Given the description of an element on the screen output the (x, y) to click on. 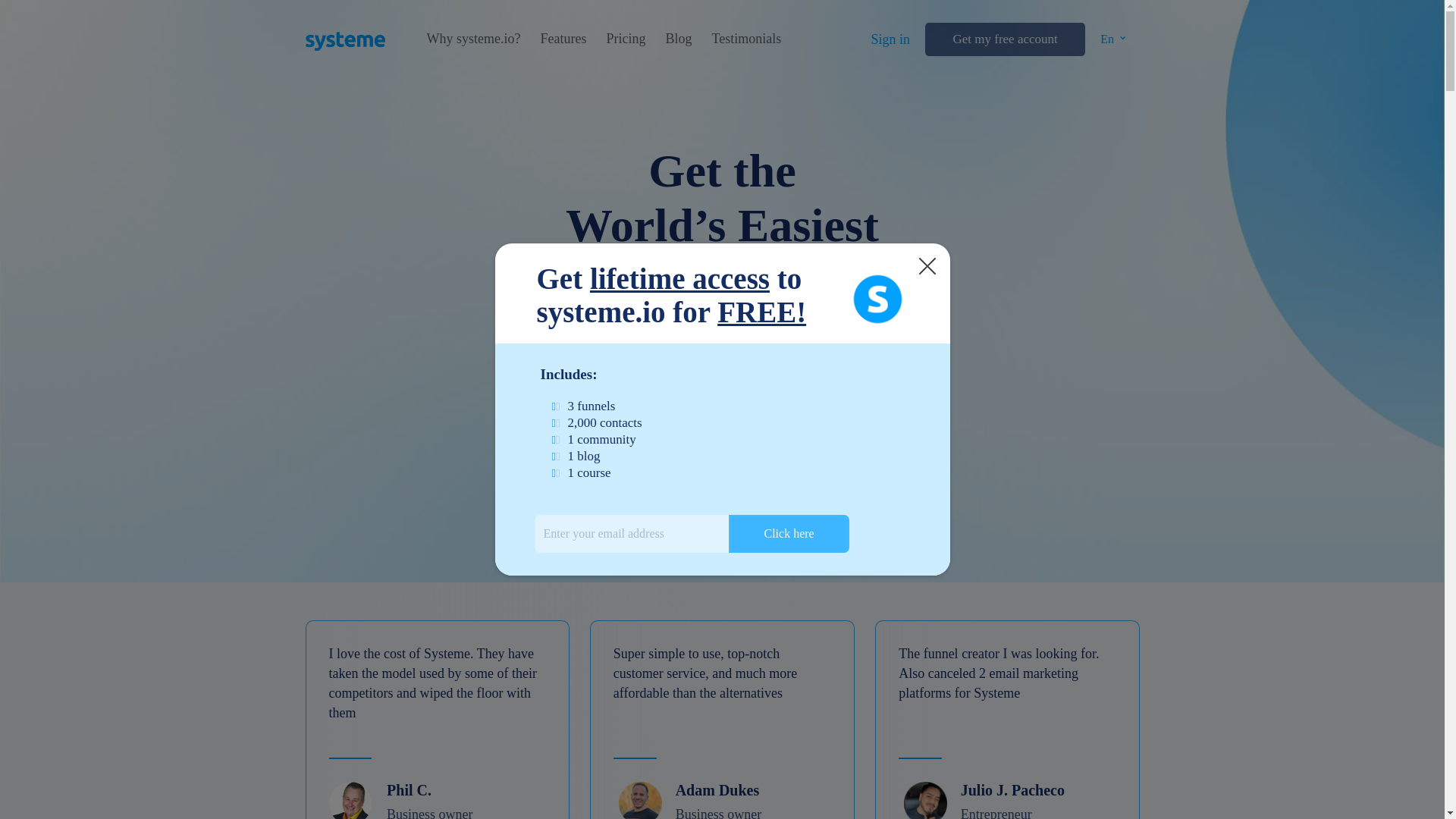
Features (563, 38)
Sign in (890, 39)
Blog (678, 38)
Testimonials (745, 38)
Why systeme.io? (472, 38)
Pricing (625, 38)
Get my free account (1004, 39)
